Given the description of an element on the screen output the (x, y) to click on. 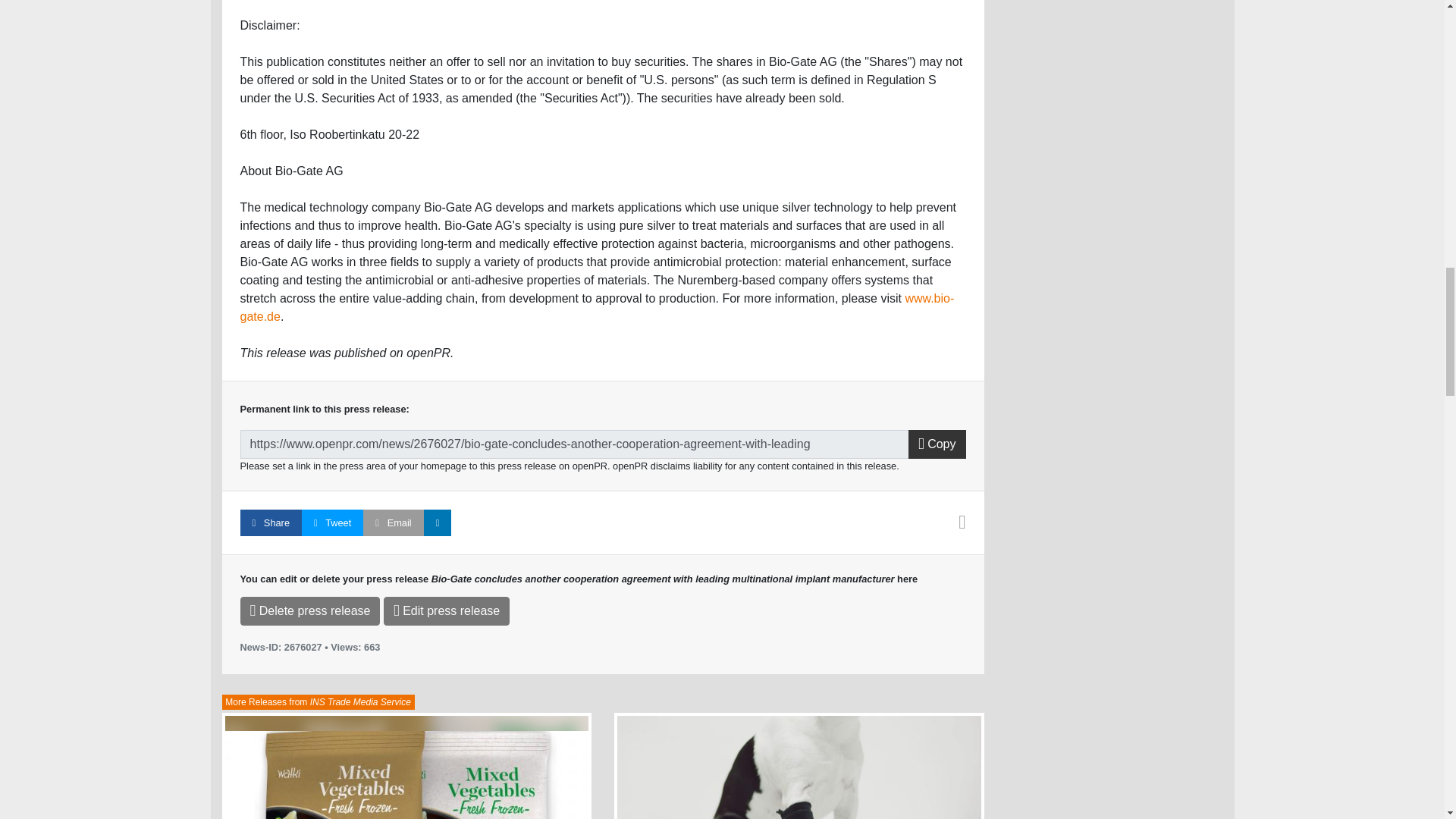
Email (392, 522)
Facebook (270, 522)
LinkedIn (437, 522)
Permalink (574, 443)
